Given the description of an element on the screen output the (x, y) to click on. 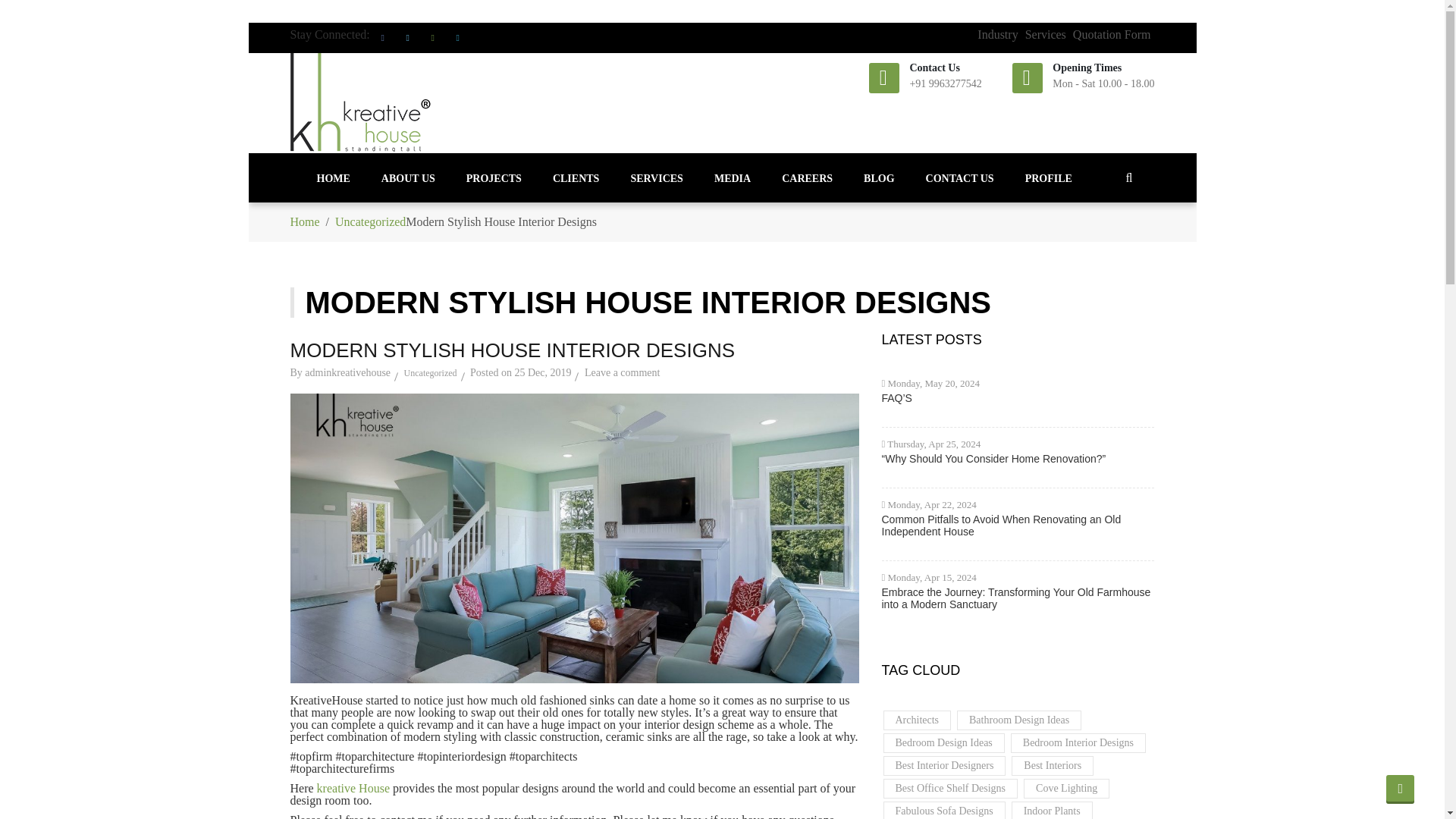
Uncategorized (370, 221)
Quotation Form (1112, 33)
adminkreativehouse (347, 372)
Uncategorized (430, 374)
CAREERS (806, 177)
ABOUT US (408, 177)
logo (359, 102)
Leave a comment (623, 372)
Home (303, 221)
Industry (996, 33)
MODERN STYLISH HOUSE INTERIOR DESIGNS (512, 350)
PROJECTS (493, 177)
Services (656, 177)
About Us (408, 177)
CLIENTS (575, 177)
